Given the description of an element on the screen output the (x, y) to click on. 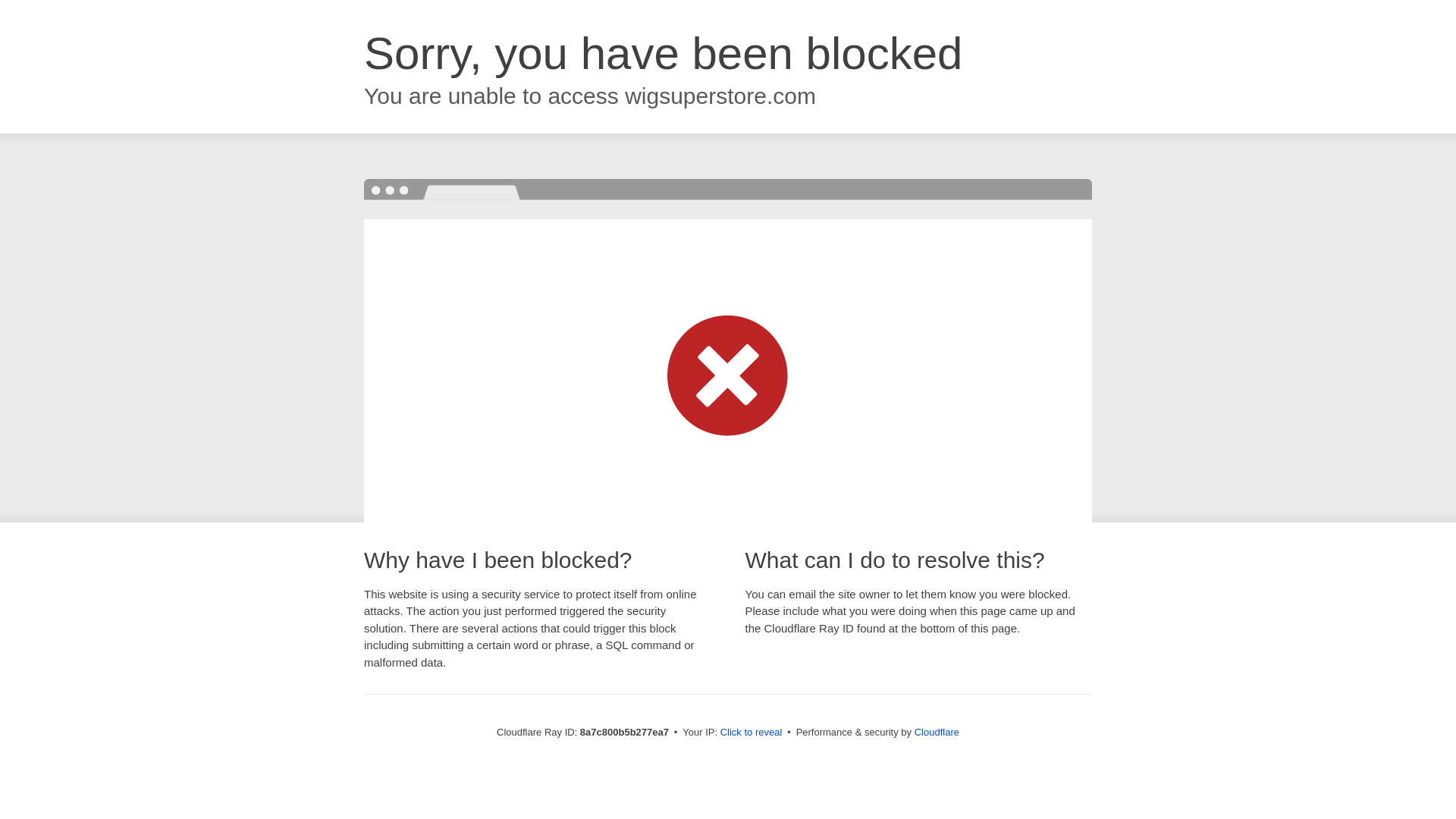
Cloudflare (936, 731)
Click to reveal (751, 732)
